Given the description of an element on the screen output the (x, y) to click on. 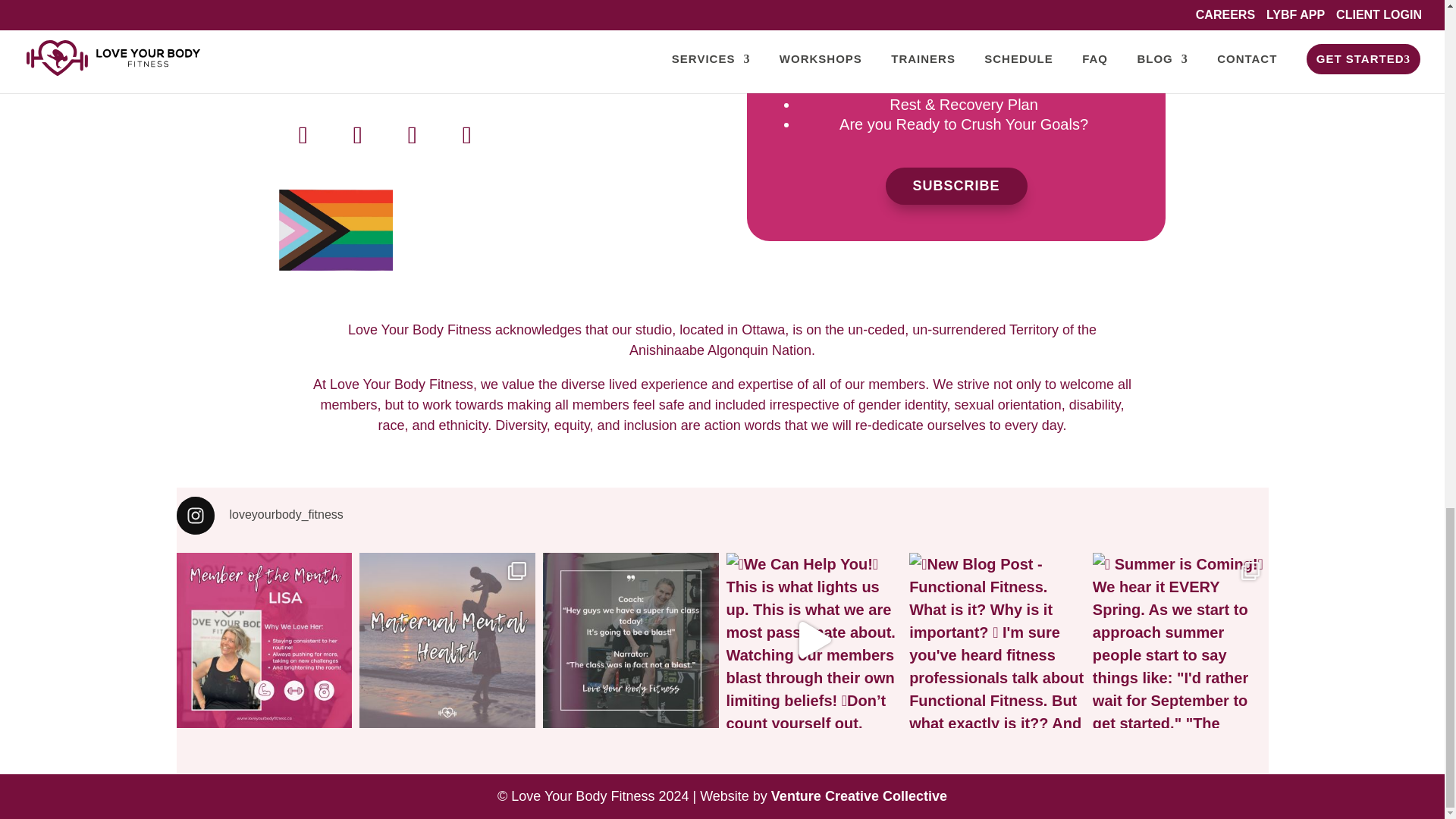
Follow on Facebook (303, 134)
Pride Flag Love Your Body Fitness 2SLGBTQI Westboro (336, 229)
Follow on Youtube (412, 134)
Follow on Instagram (357, 134)
Follow on LinkedIn (467, 134)
